Given the description of an element on the screen output the (x, y) to click on. 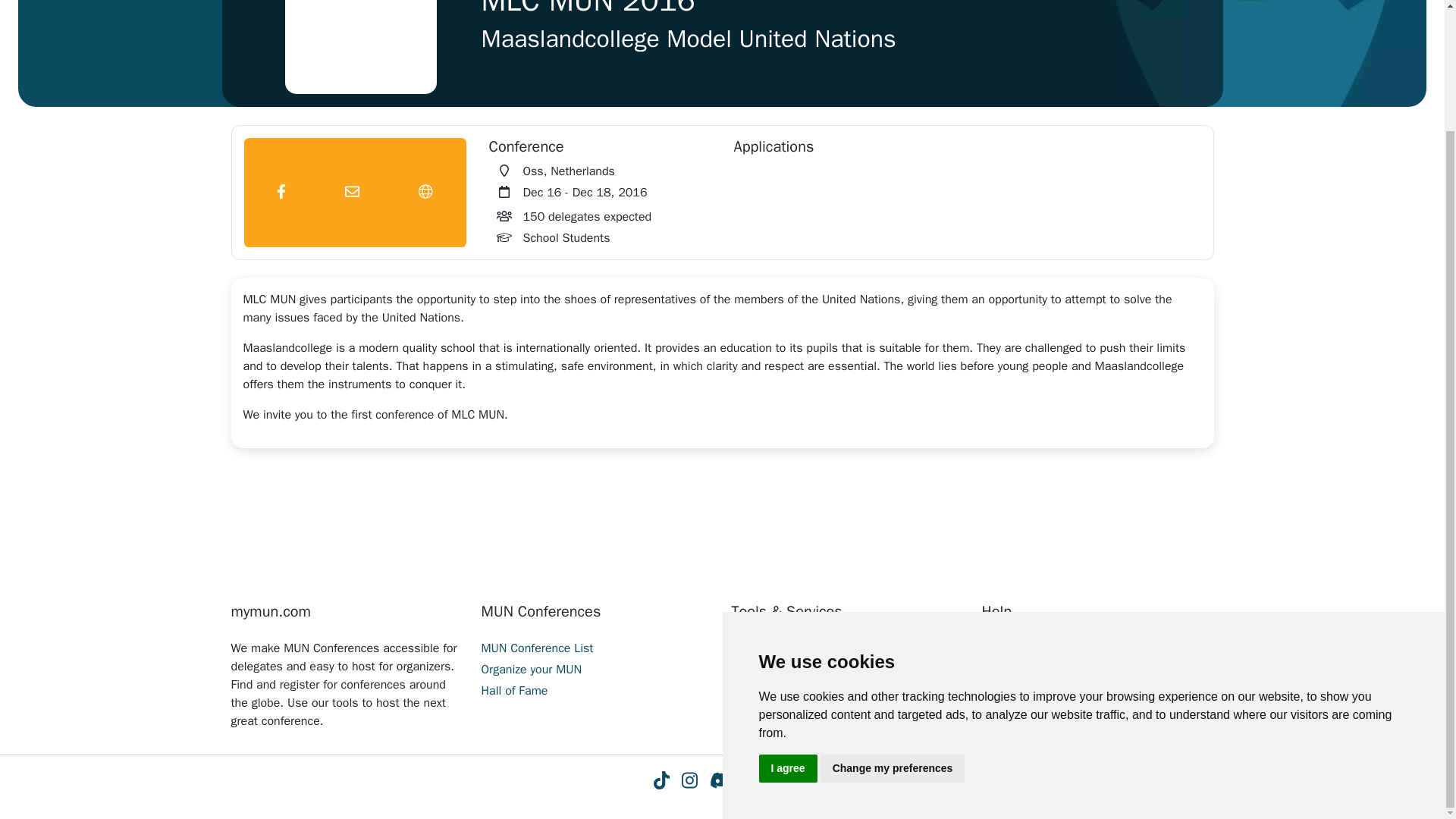
I agree (787, 623)
Change my preferences (893, 623)
